Given the description of an element on the screen output the (x, y) to click on. 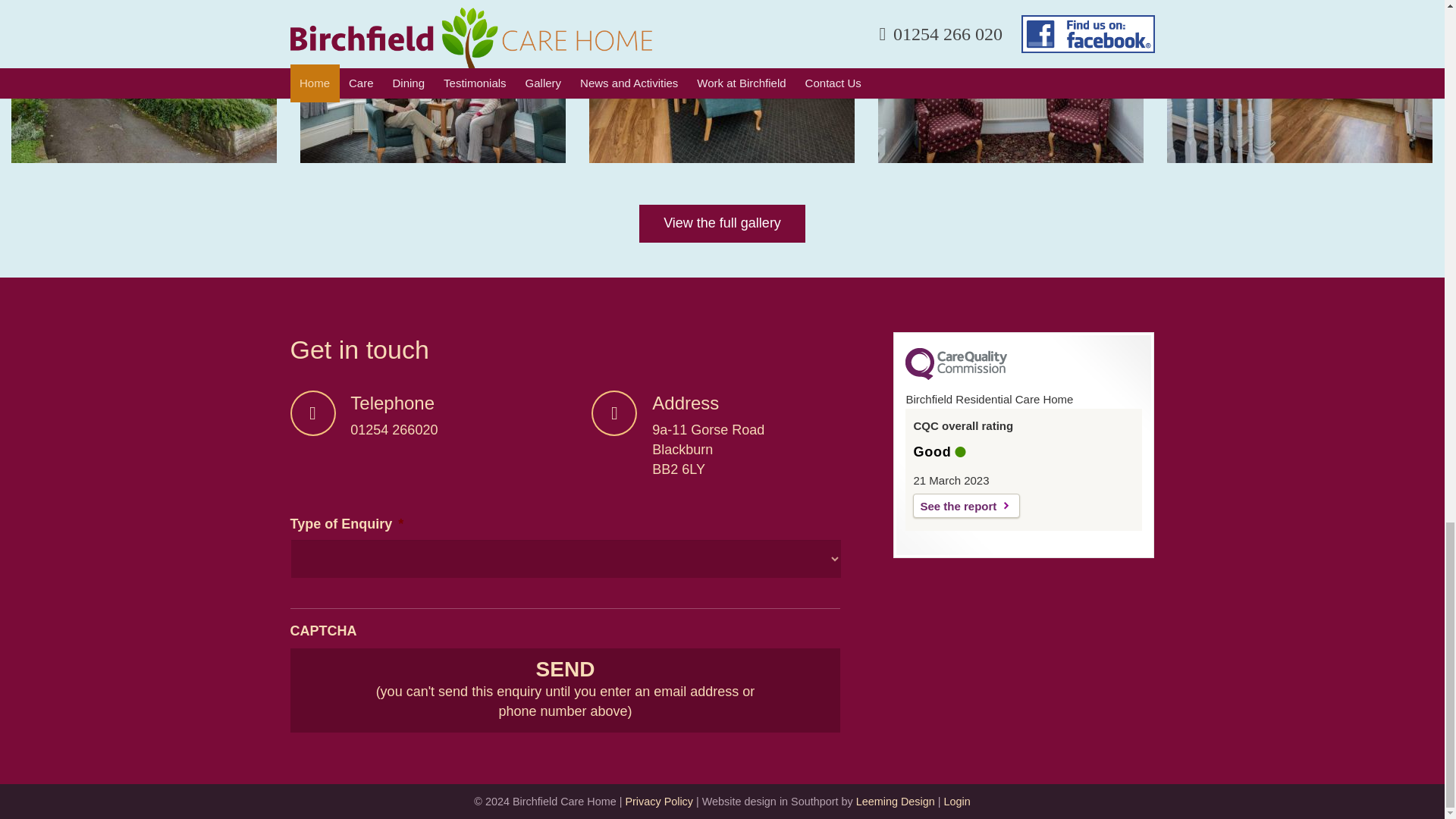
CQC Logo (956, 376)
